Given the description of an element on the screen output the (x, y) to click on. 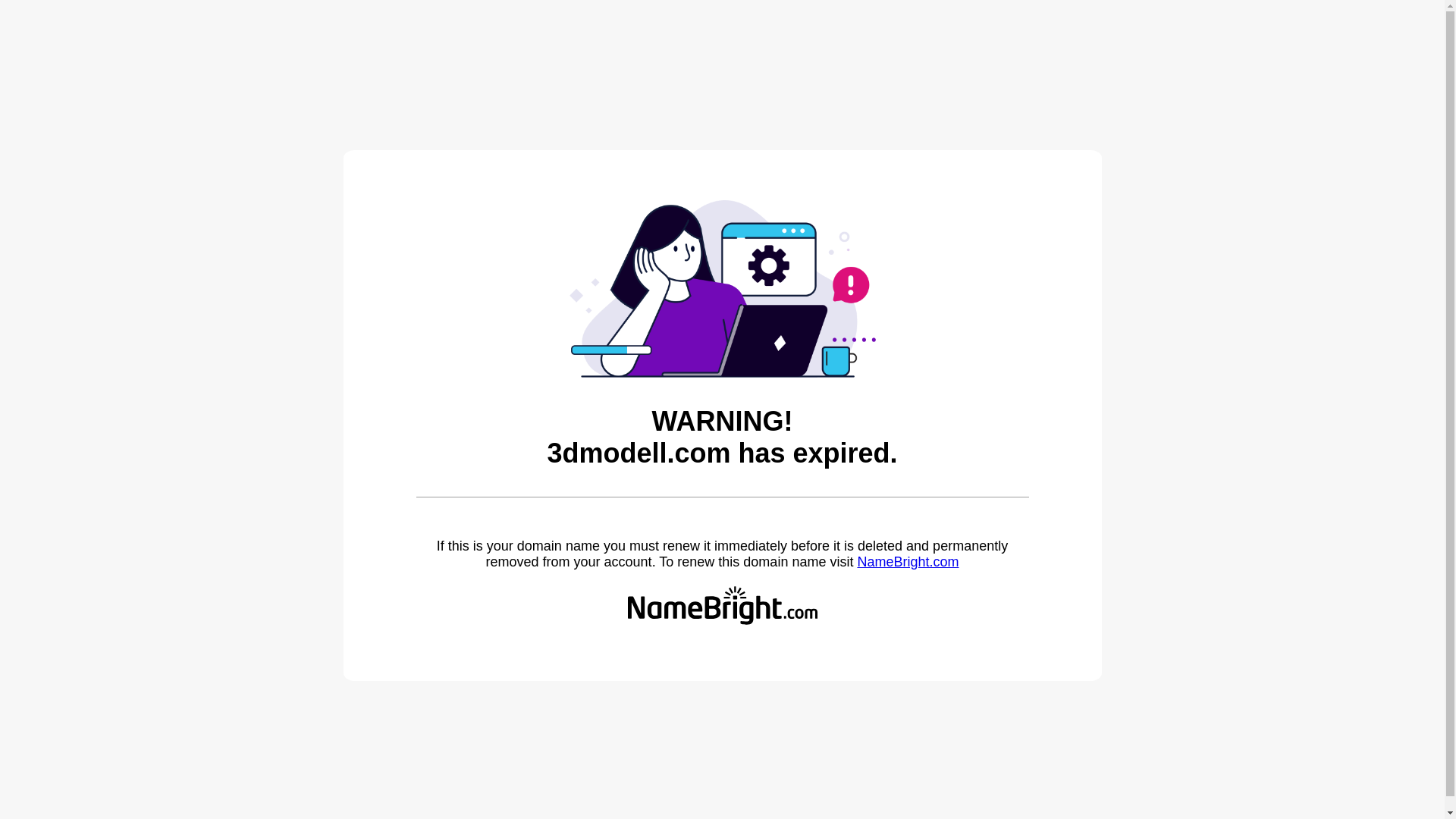
NameBright.com Element type: text (907, 561)
